Given the description of an element on the screen output the (x, y) to click on. 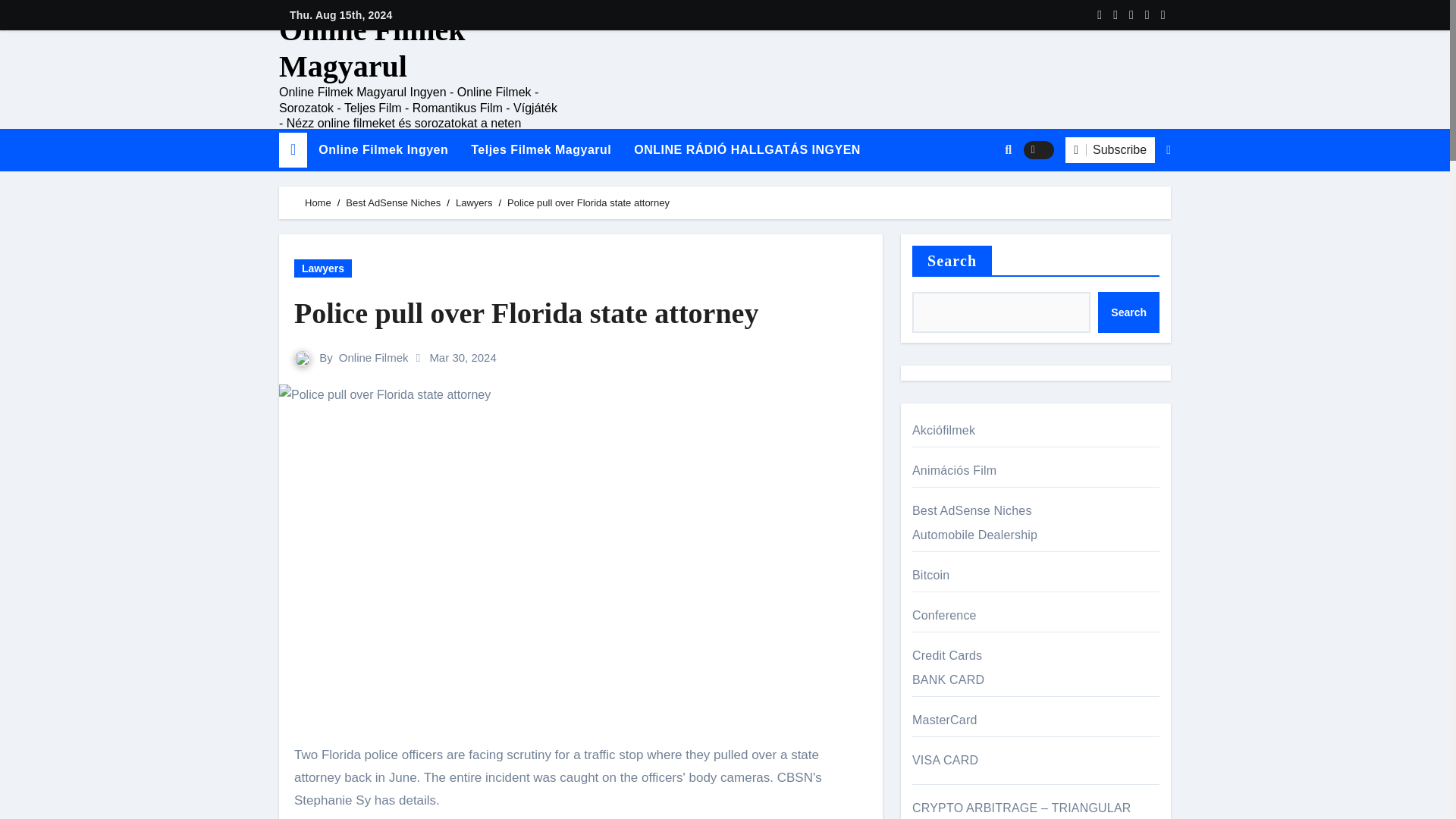
Home (317, 202)
Best AdSense Niches (393, 202)
Online Filmek Ingyen (383, 149)
Teljes Filmek Magyarul (541, 149)
Lawyers (323, 268)
Lawyers (473, 202)
Online Filmek (374, 357)
Subscribe (1109, 149)
Police pull over Florida state attorney (580, 313)
Online Filmek Magyarul (372, 48)
